Given the description of an element on the screen output the (x, y) to click on. 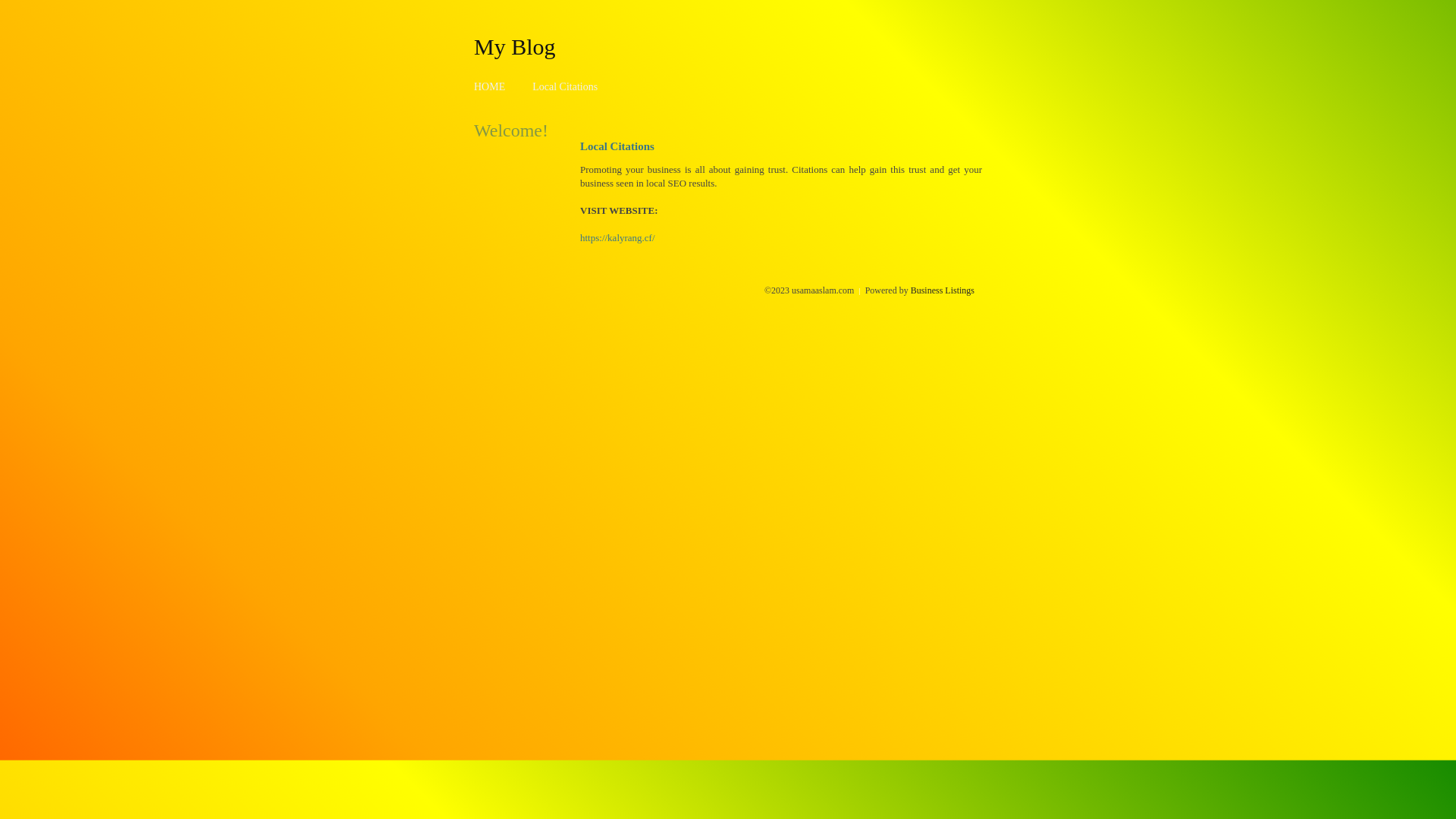
Business Listings Element type: text (942, 290)
HOME Element type: text (489, 86)
https://kalyrang.cf/ Element type: text (617, 237)
Local Citations Element type: text (564, 86)
My Blog Element type: text (514, 46)
